Given the description of an element on the screen output the (x, y) to click on. 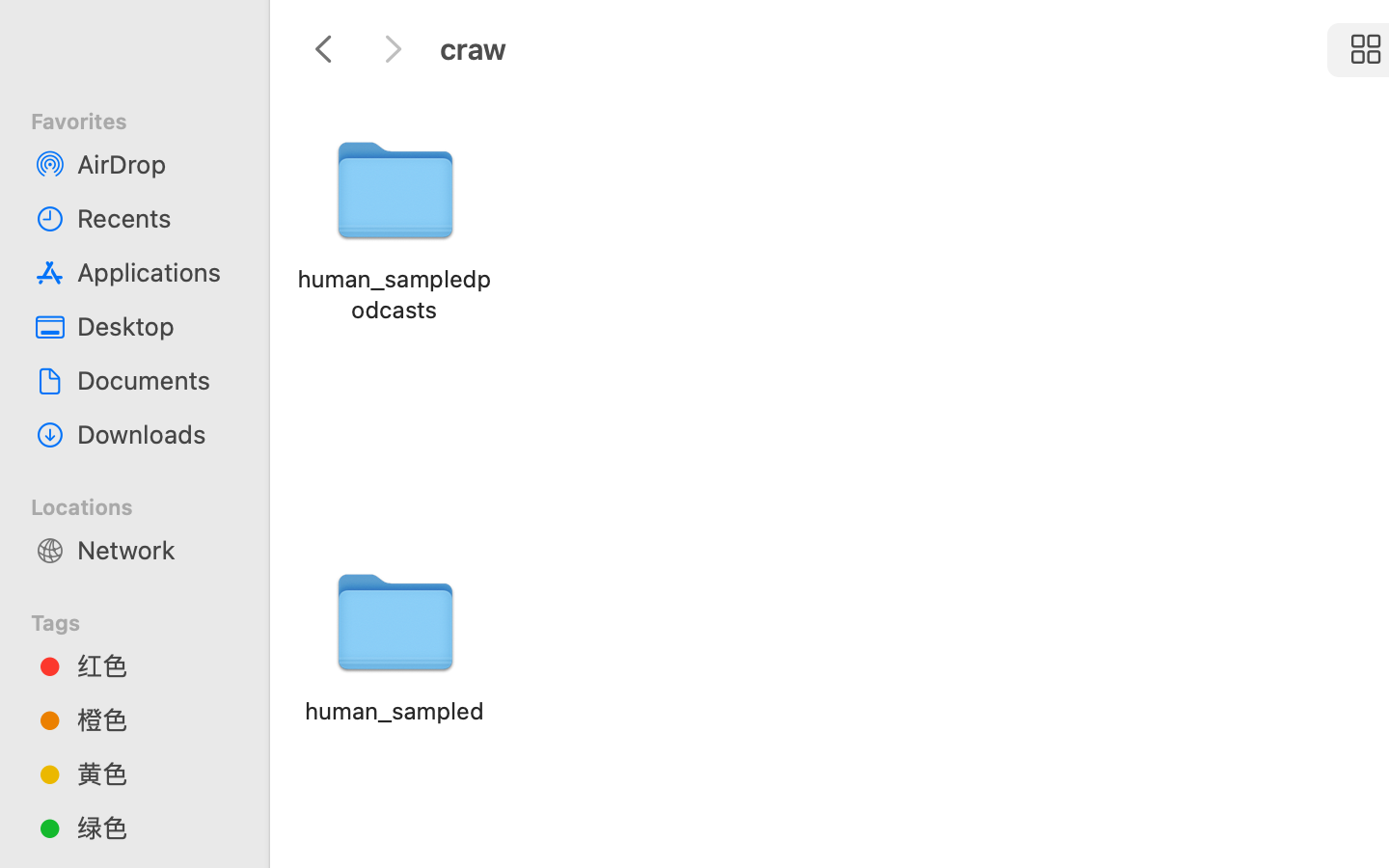
Network Element type: AXStaticText (155, 549)
AirDrop Element type: AXStaticText (155, 163)
Applications Element type: AXStaticText (155, 271)
Favorites Element type: AXStaticText (145, 118)
黄色 Element type: AXStaticText (155, 773)
